Given the description of an element on the screen output the (x, y) to click on. 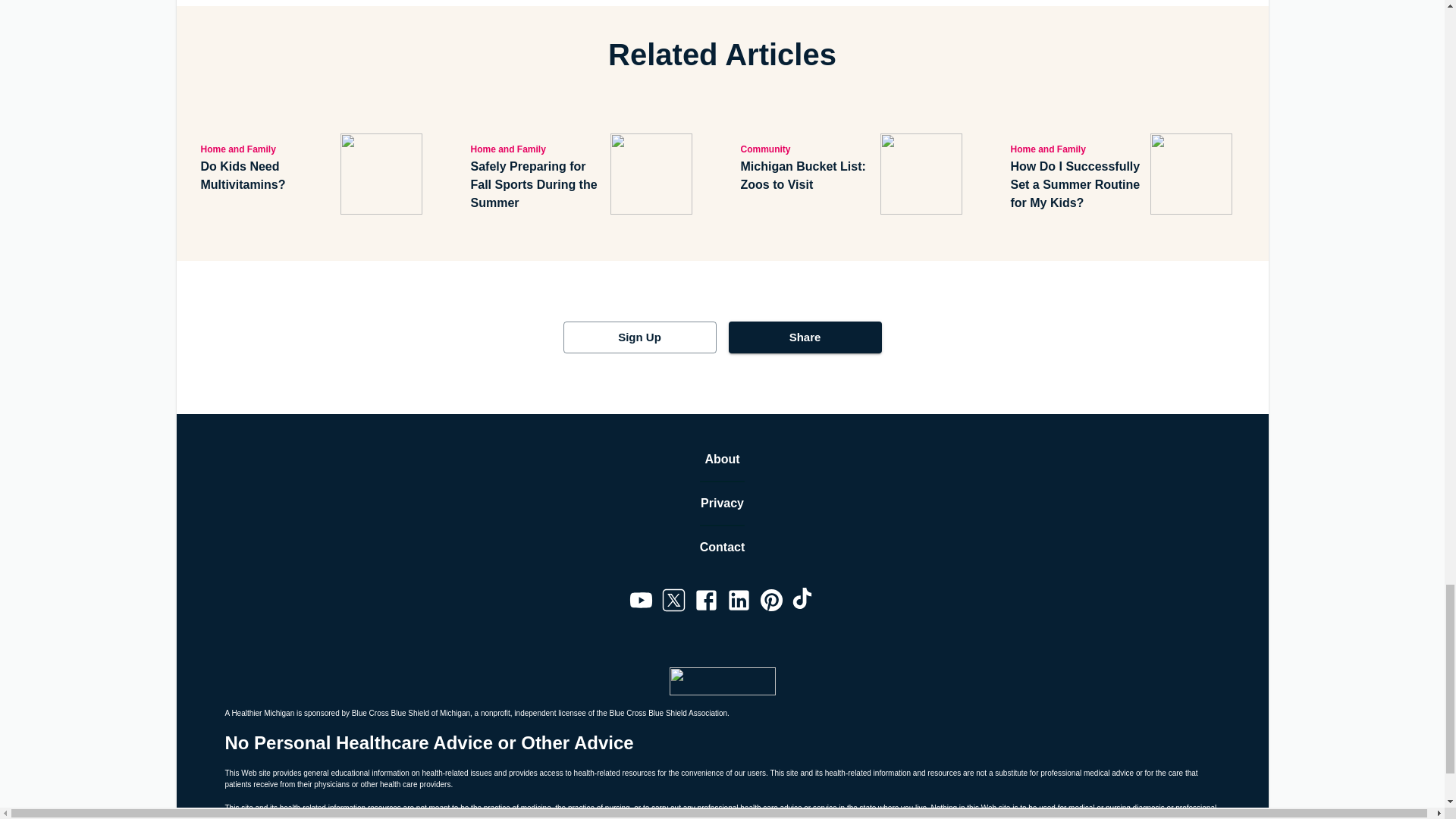
Michigan Bucket List: Zoos to Visit (807, 176)
Sign Up (639, 336)
Home and Family (537, 148)
Do Kids Need Multivitamins? (267, 176)
Share (804, 336)
Contact (722, 547)
Safely Preparing for Fall Sports During the Summer (537, 185)
Privacy (722, 503)
Home and Family (1077, 148)
How Do I Successfully Set a Summer Routine for My Kids? (1077, 185)
About (721, 459)
Community (807, 148)
Home and Family (267, 148)
